Given the description of an element on the screen output the (x, y) to click on. 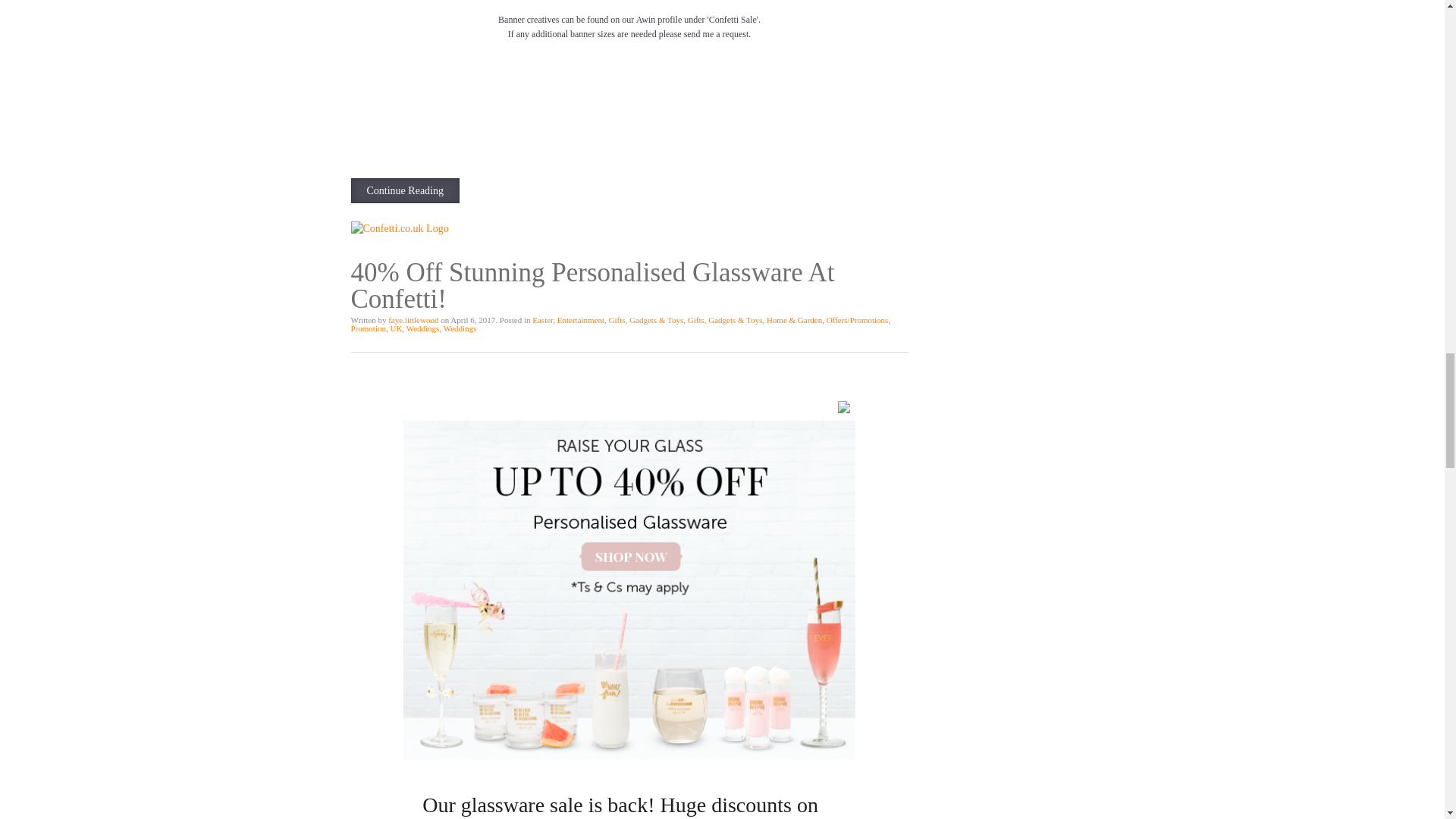
faye.littlewood (413, 319)
faye.littlewood (413, 319)
Continue Reading (405, 190)
